Given the description of an element on the screen output the (x, y) to click on. 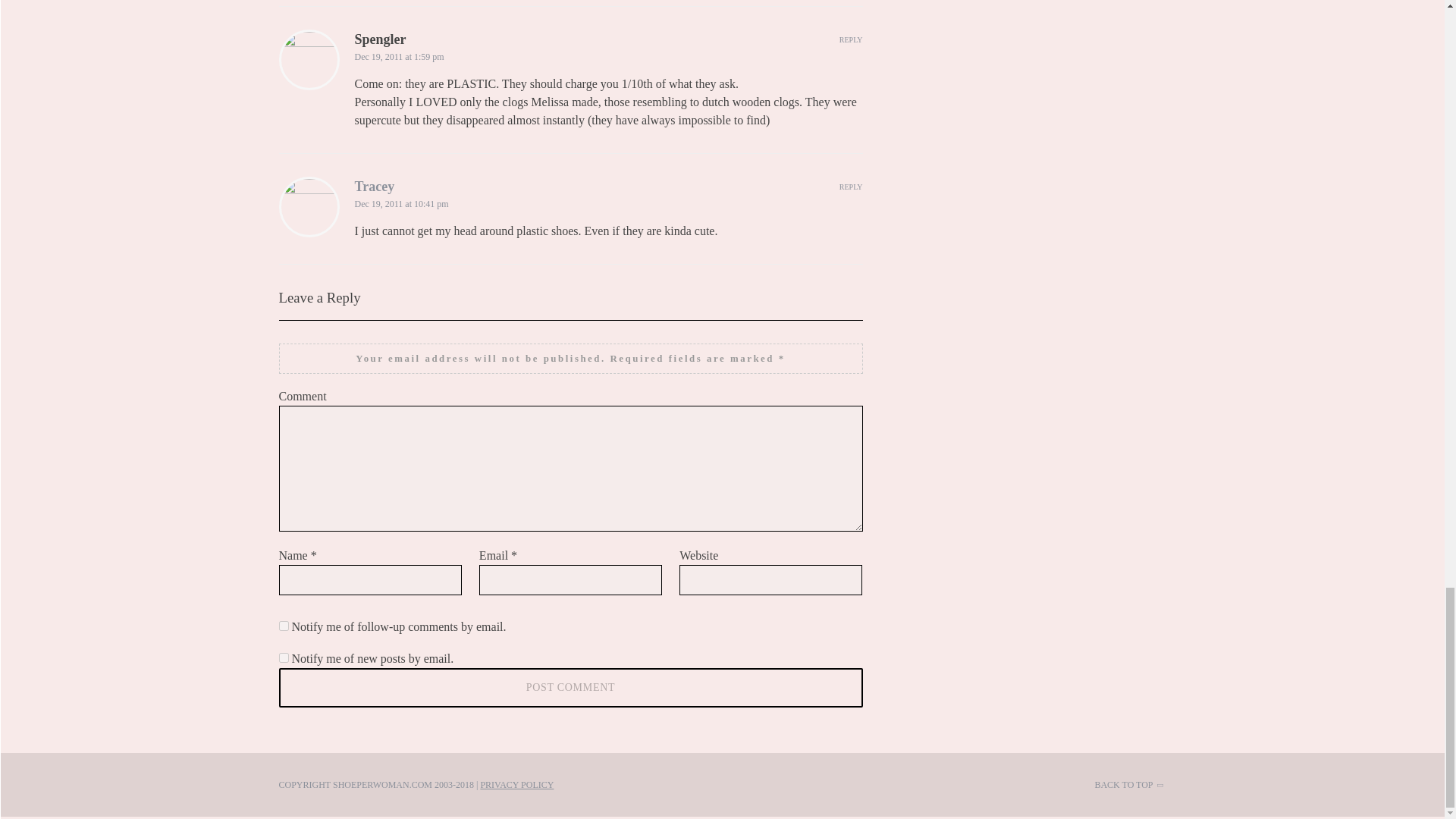
Post Comment (571, 687)
subscribe (283, 657)
subscribe (283, 625)
